Given the description of an element on the screen output the (x, y) to click on. 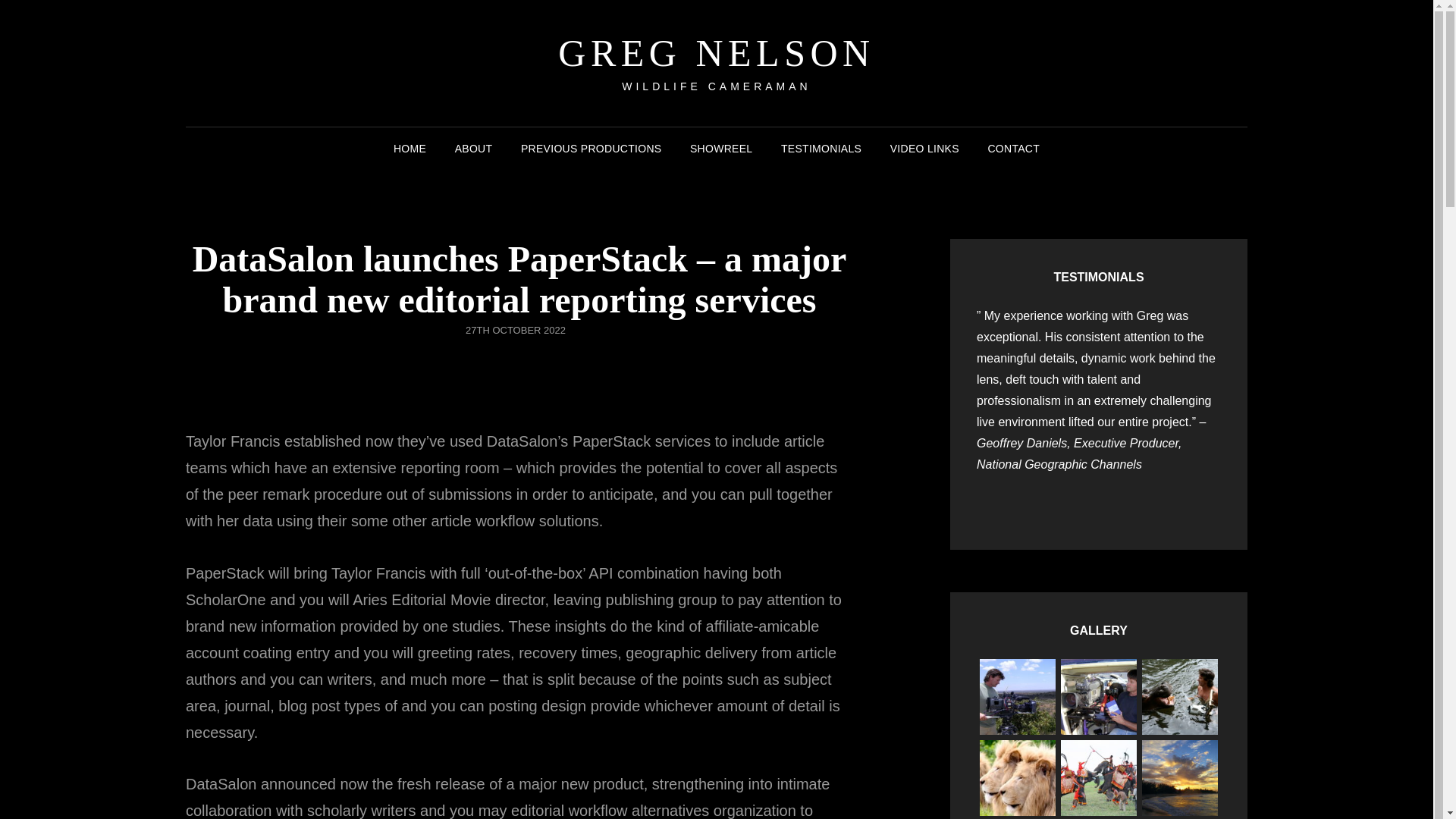
ABOUT (473, 148)
TESTIMONIALS (820, 148)
SHOWREEL (721, 148)
CONTACT (1013, 148)
HOME (409, 148)
GREG NELSON (716, 52)
PREVIOUS PRODUCTIONS (591, 148)
VIDEO LINKS (924, 148)
27TH OCTOBER 2022 (515, 329)
